Given the description of an element on the screen output the (x, y) to click on. 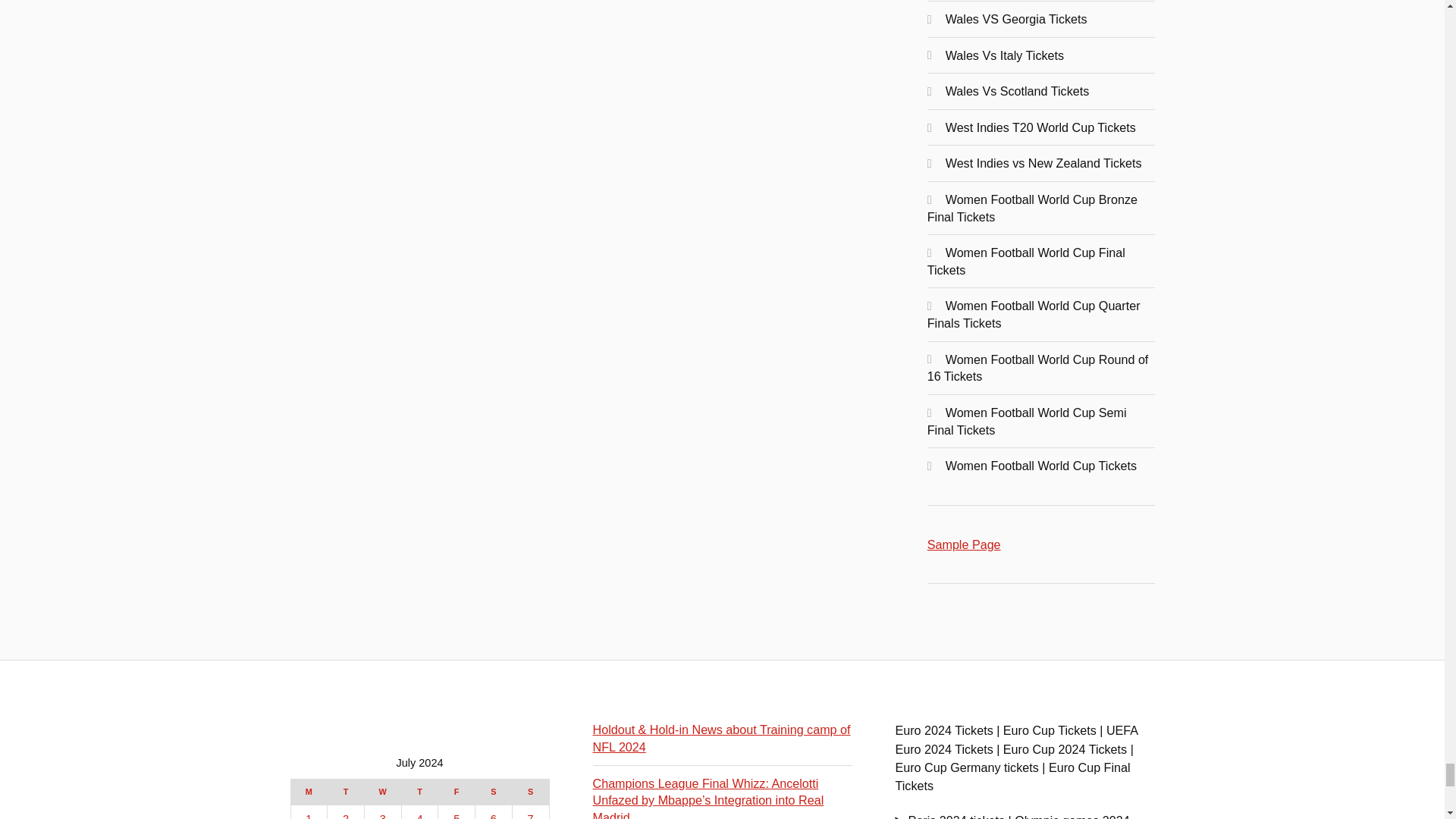
Tuesday (346, 792)
Wednesday (382, 792)
Saturday (494, 792)
Thursday (419, 792)
Monday (308, 792)
Friday (457, 792)
Sunday (530, 792)
